Given the description of an element on the screen output the (x, y) to click on. 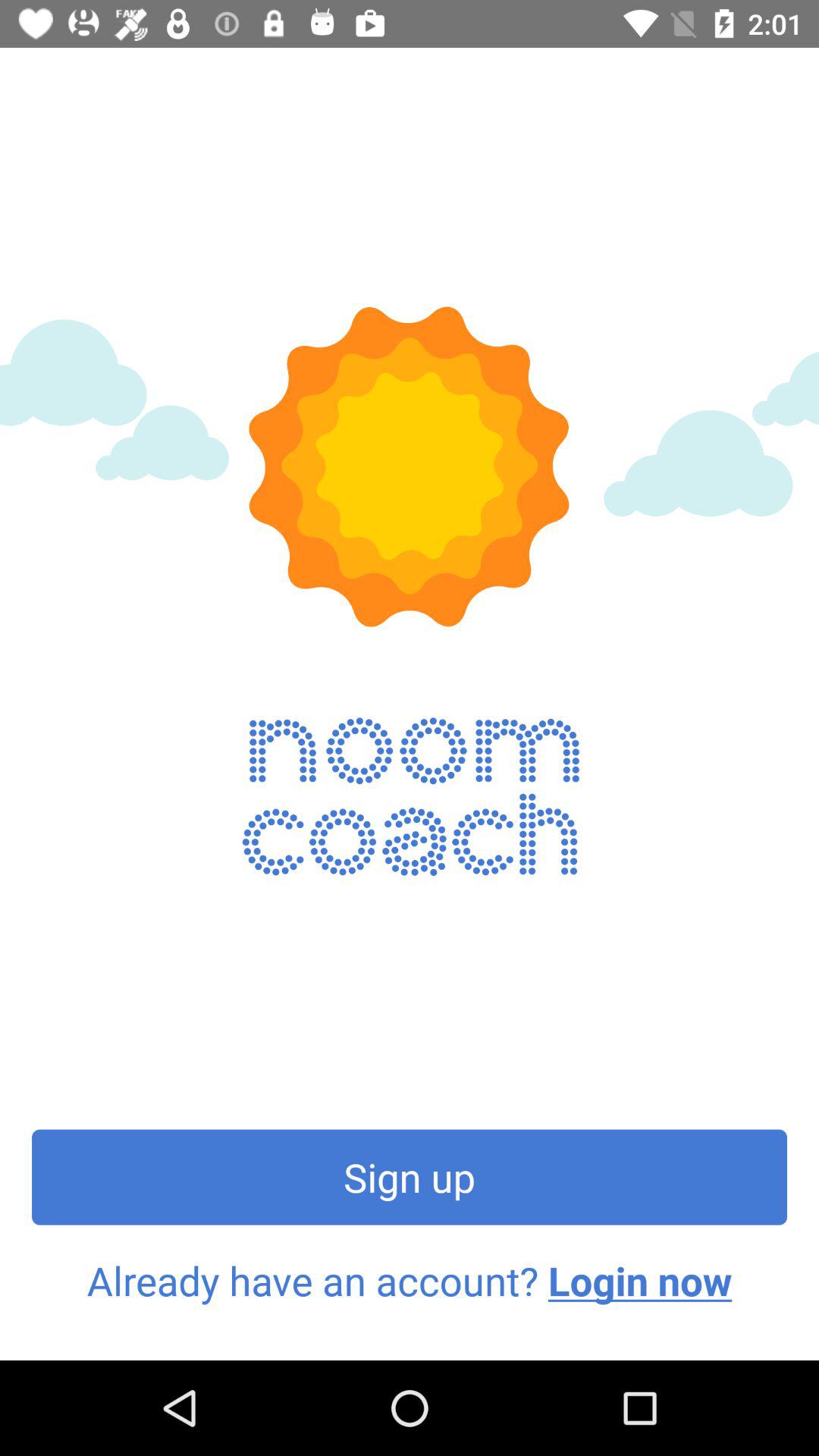
click item above the already have an item (409, 1177)
